Given the description of an element on the screen output the (x, y) to click on. 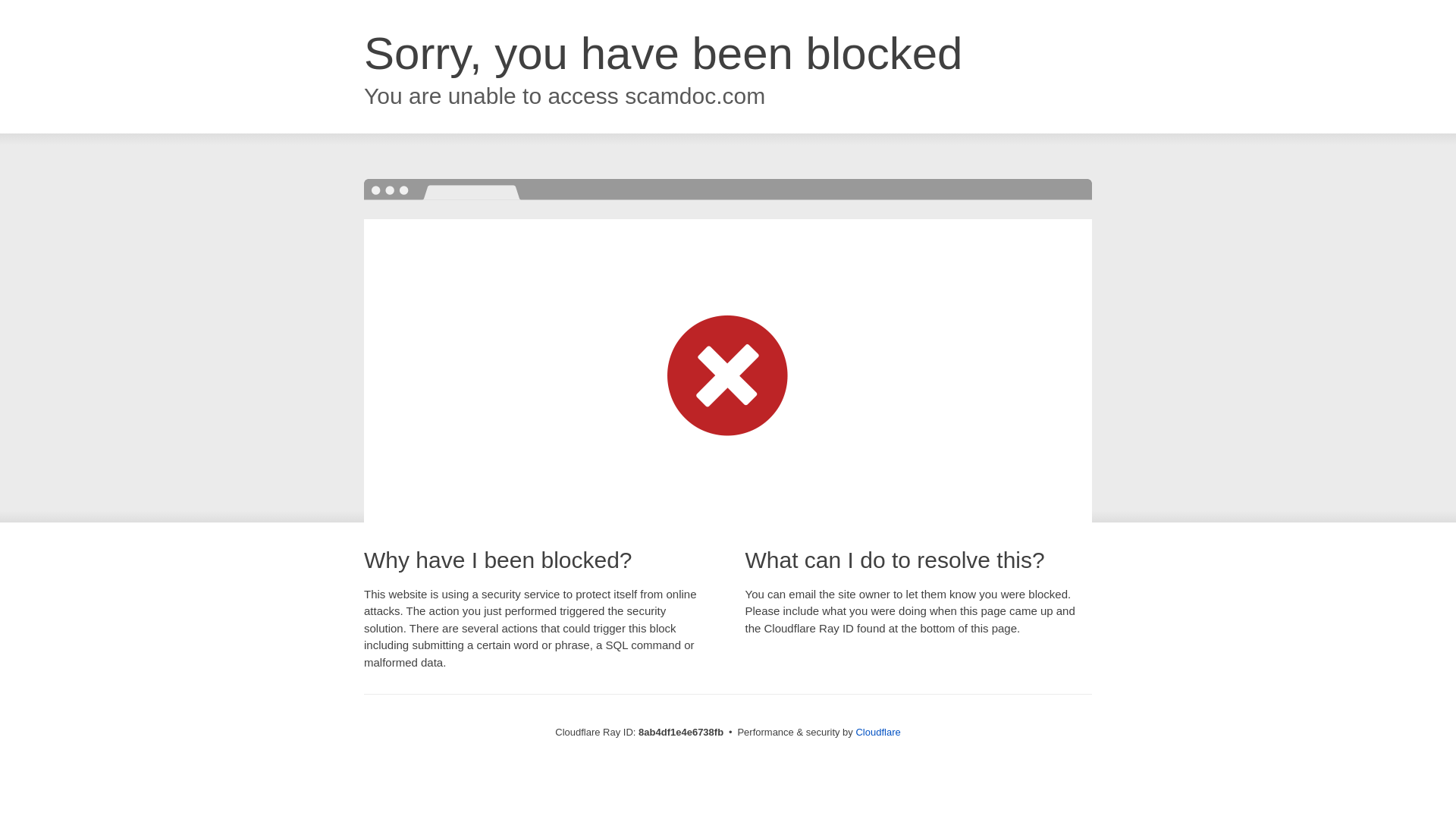
Cloudflare (877, 731)
